Given the description of an element on the screen output the (x, y) to click on. 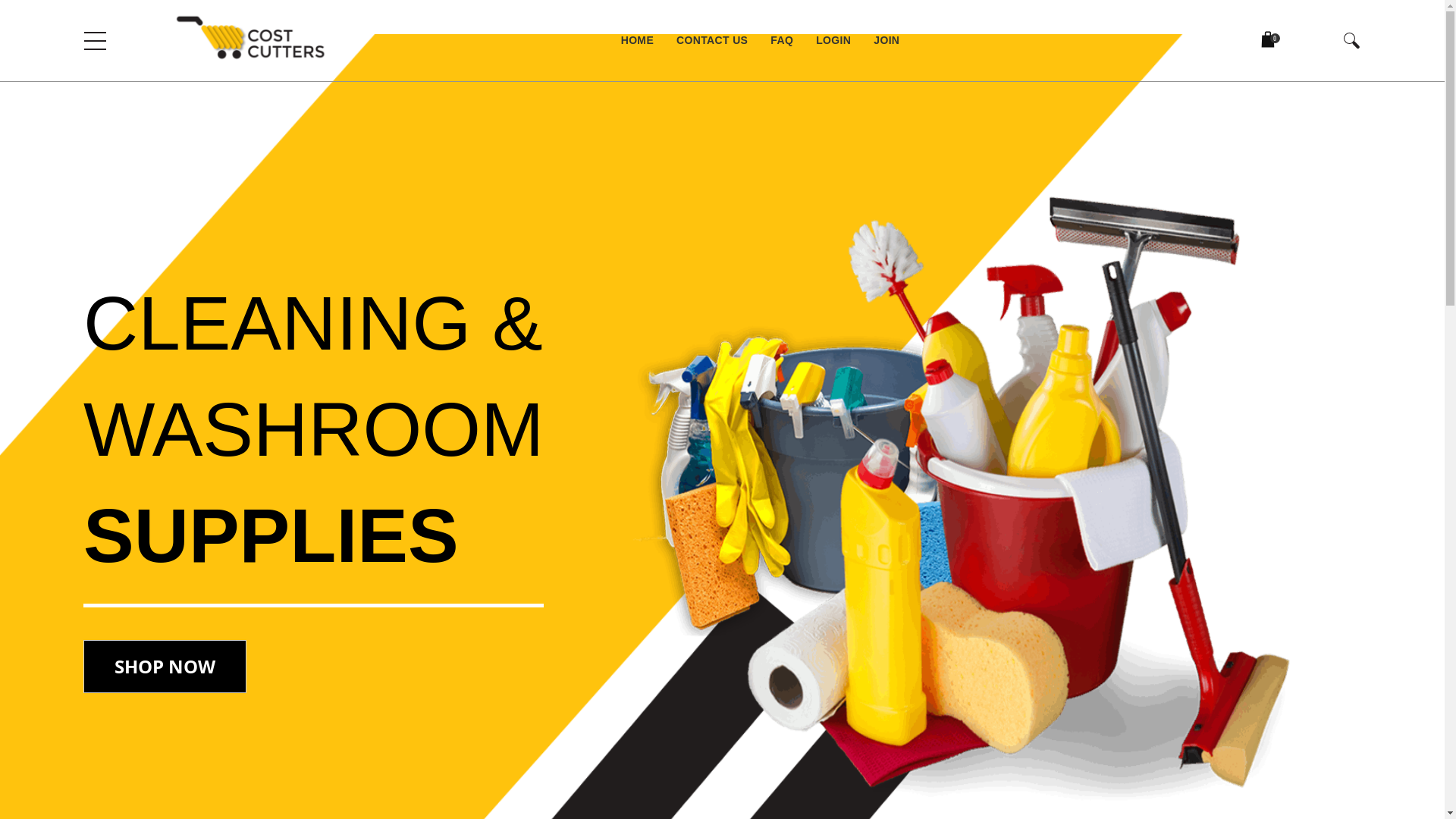
CONTACT US Element type: text (712, 40)
Cart
0 Element type: text (1267, 40)
JOIN Element type: text (880, 40)
LOGIN Element type: text (833, 40)
SHOP NOW Element type: text (164, 666)
FAQ Element type: text (781, 40)
HOME Element type: text (637, 40)
